Given the description of an element on the screen output the (x, y) to click on. 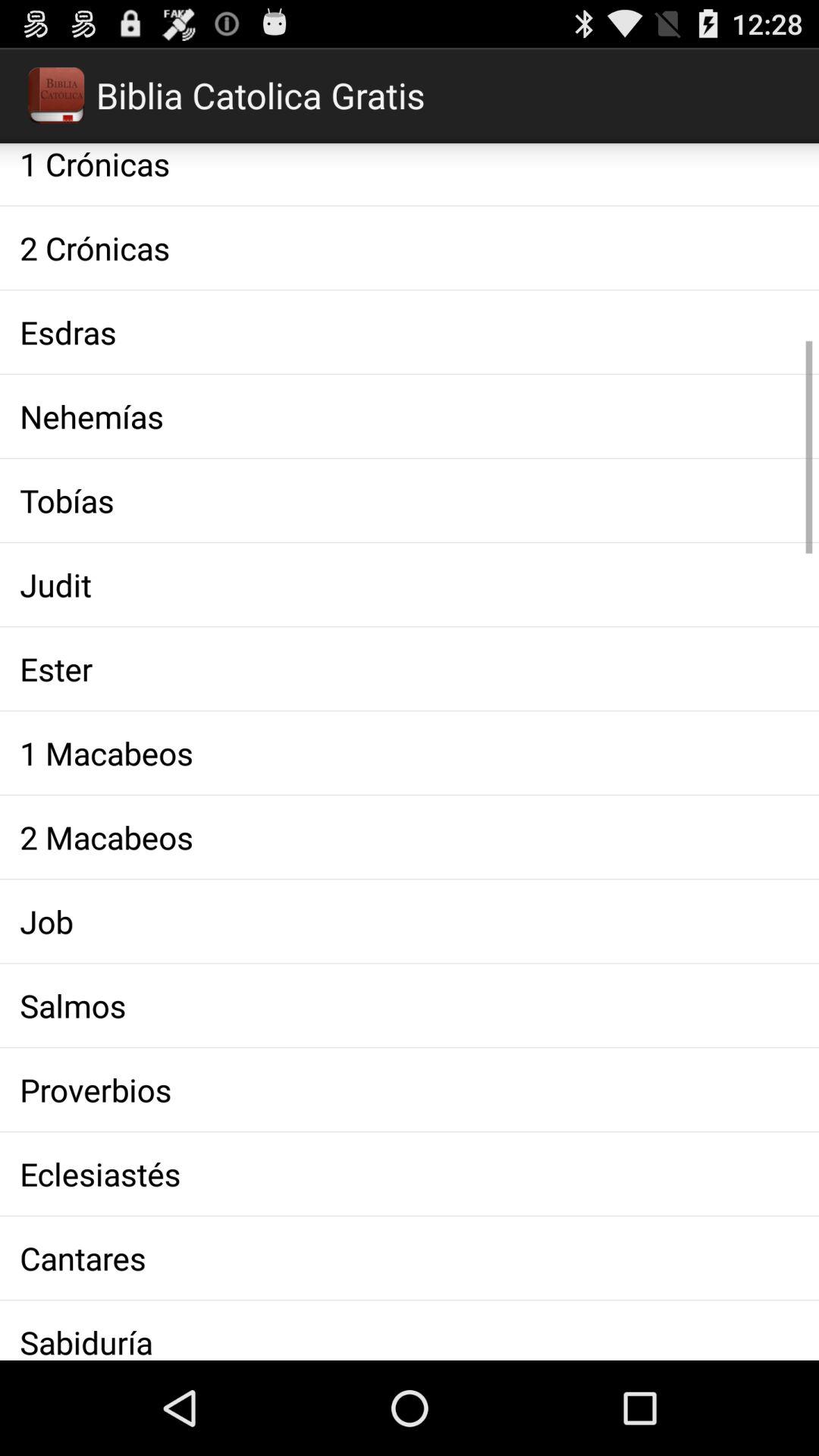
flip until proverbios (409, 1089)
